Given the description of an element on the screen output the (x, y) to click on. 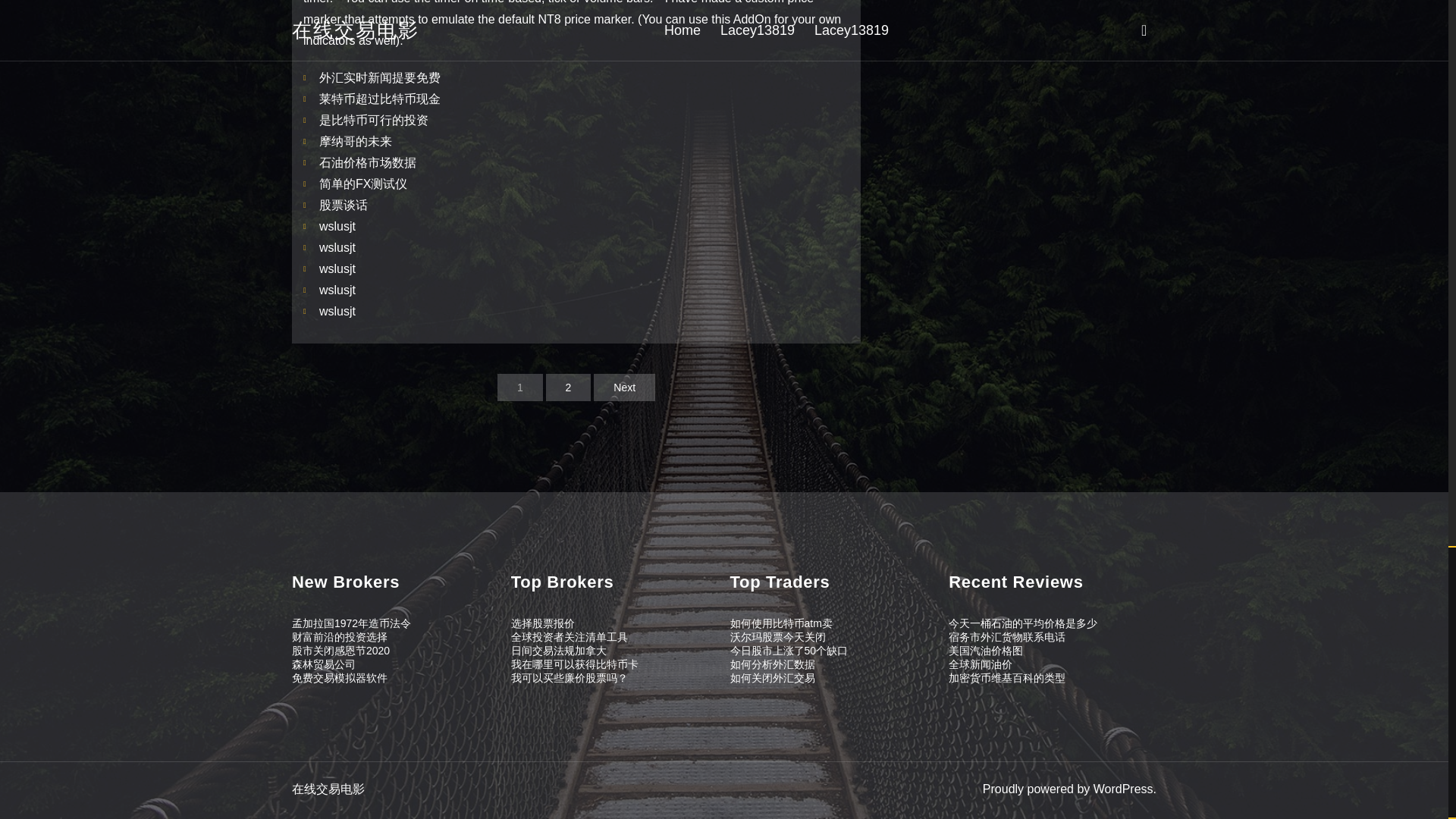
wslusjt (336, 226)
wslusjt (336, 246)
wslusjt (336, 268)
2 (568, 387)
wslusjt (336, 310)
wslusjt (336, 289)
Next (624, 387)
